Given the description of an element on the screen output the (x, y) to click on. 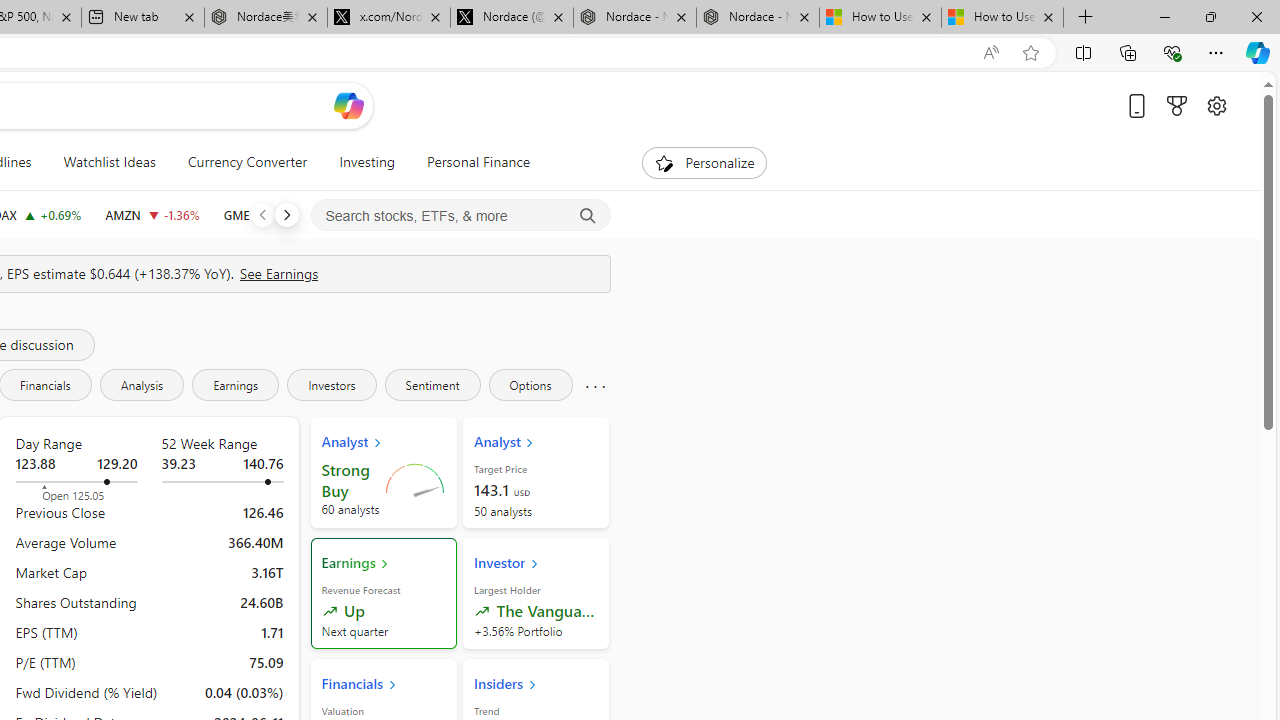
Analysis (141, 384)
How to Use a Monitor With Your Closed Laptop (1002, 17)
GME GAMESTOP CORP. decrease 20.74 -0.62 -2.90% (266, 214)
Watchlist Ideas (109, 162)
Options (530, 384)
Investing (367, 162)
Investors (331, 384)
Personalize (703, 162)
